Given the description of an element on the screen output the (x, y) to click on. 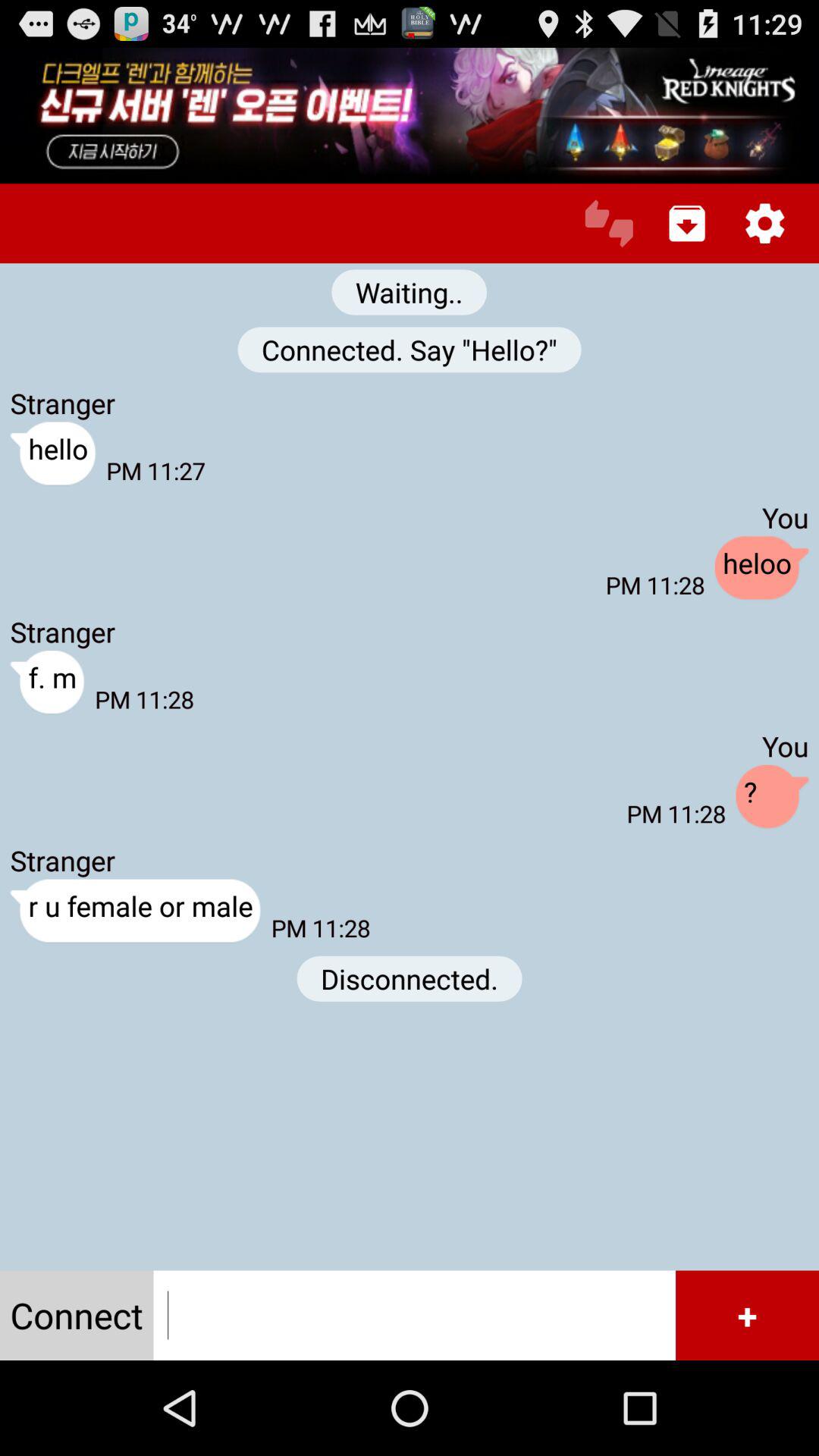
tap item above the you (764, 223)
